Given the description of an element on the screen output the (x, y) to click on. 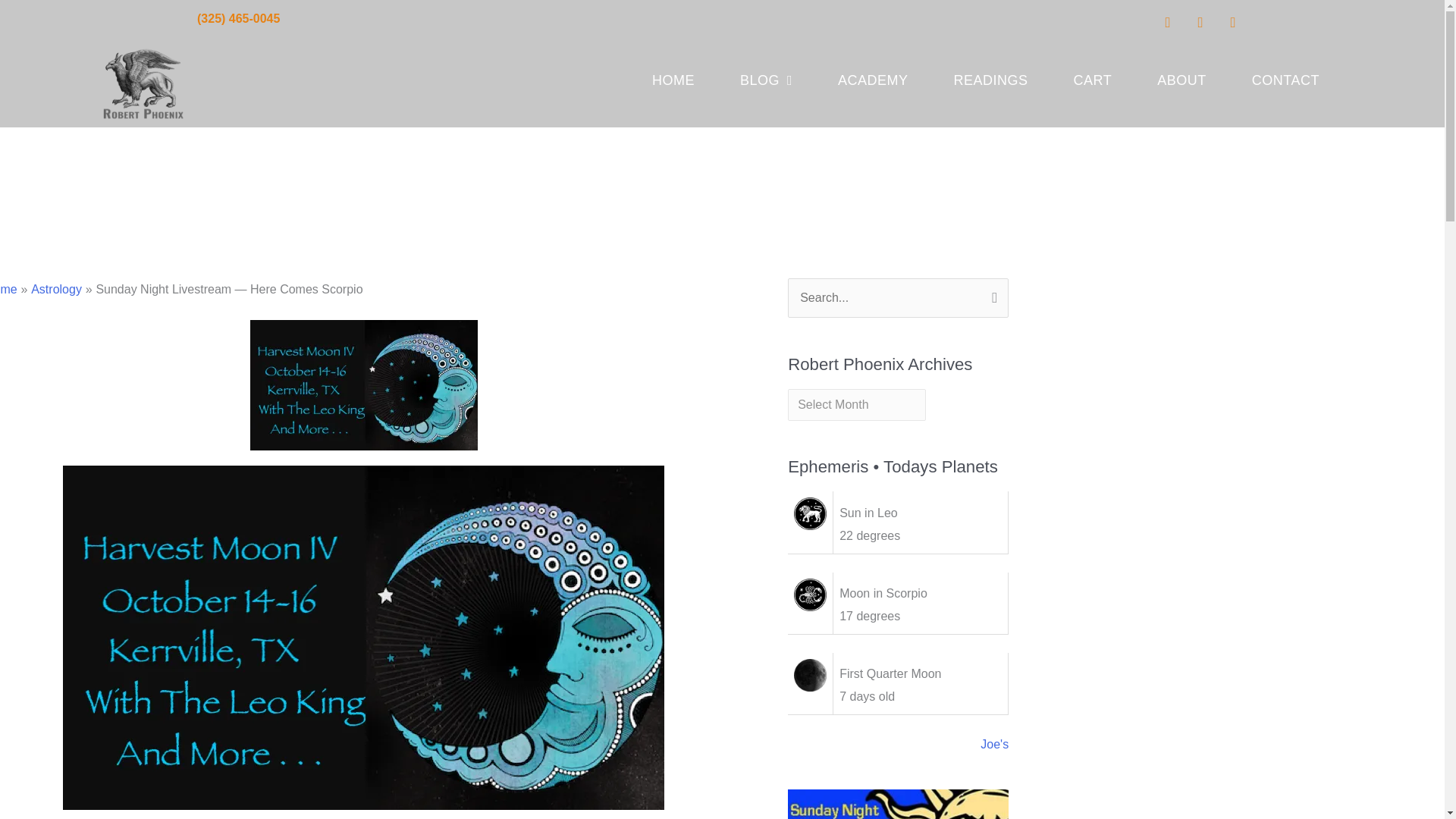
Search (991, 294)
ACADEMY (873, 80)
CONTACT (1285, 80)
Home (8, 288)
Joe's (994, 744)
BLOG (766, 80)
CART (1093, 80)
Search (991, 294)
Scorpio (810, 594)
READINGS (991, 80)
